Given the description of an element on the screen output the (x, y) to click on. 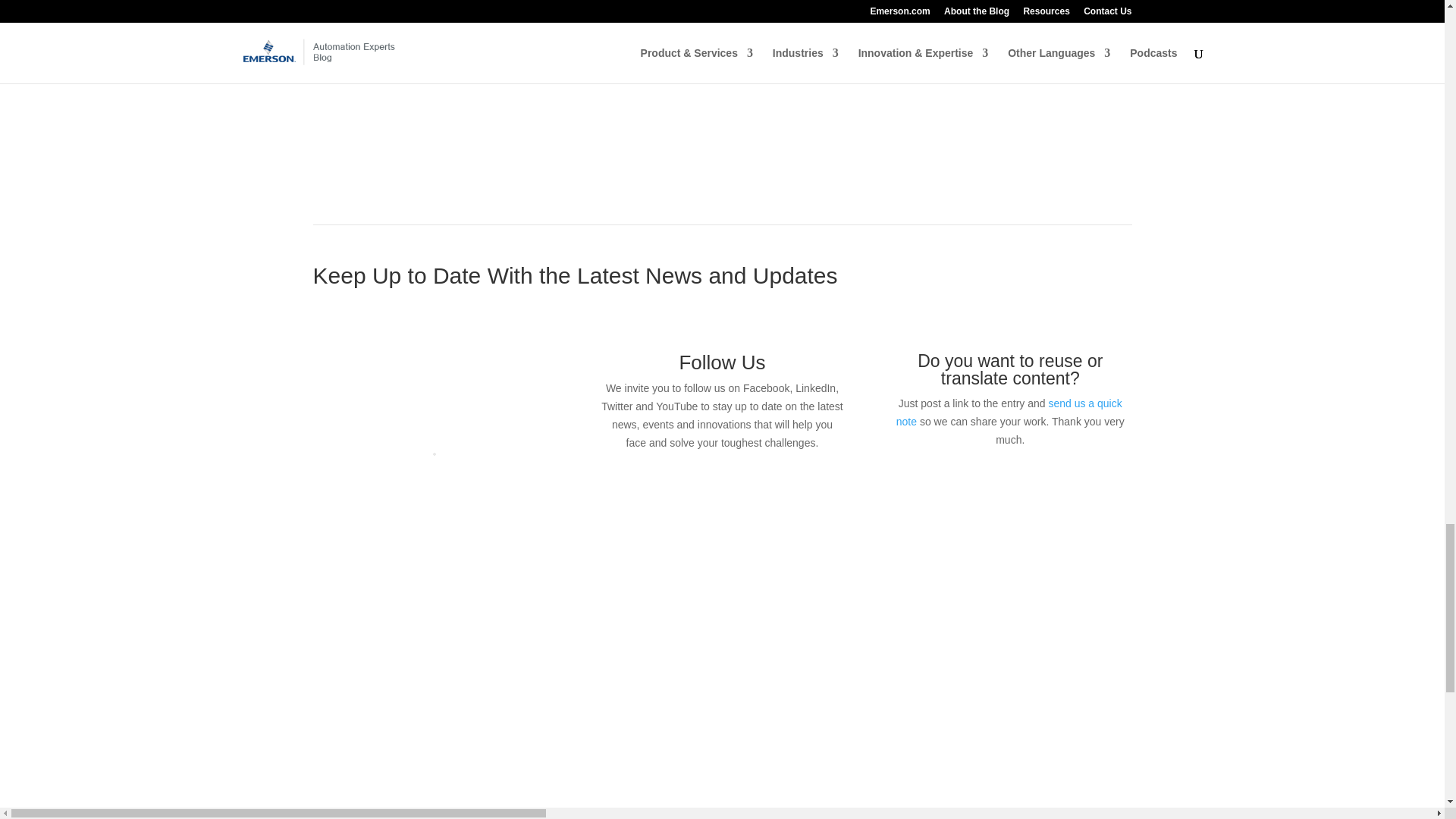
Follow on Facebook (675, 486)
Follow on Youtube (766, 486)
Follow on X (737, 486)
Follow on LinkedIn (706, 486)
